Given the description of an element on the screen output the (x, y) to click on. 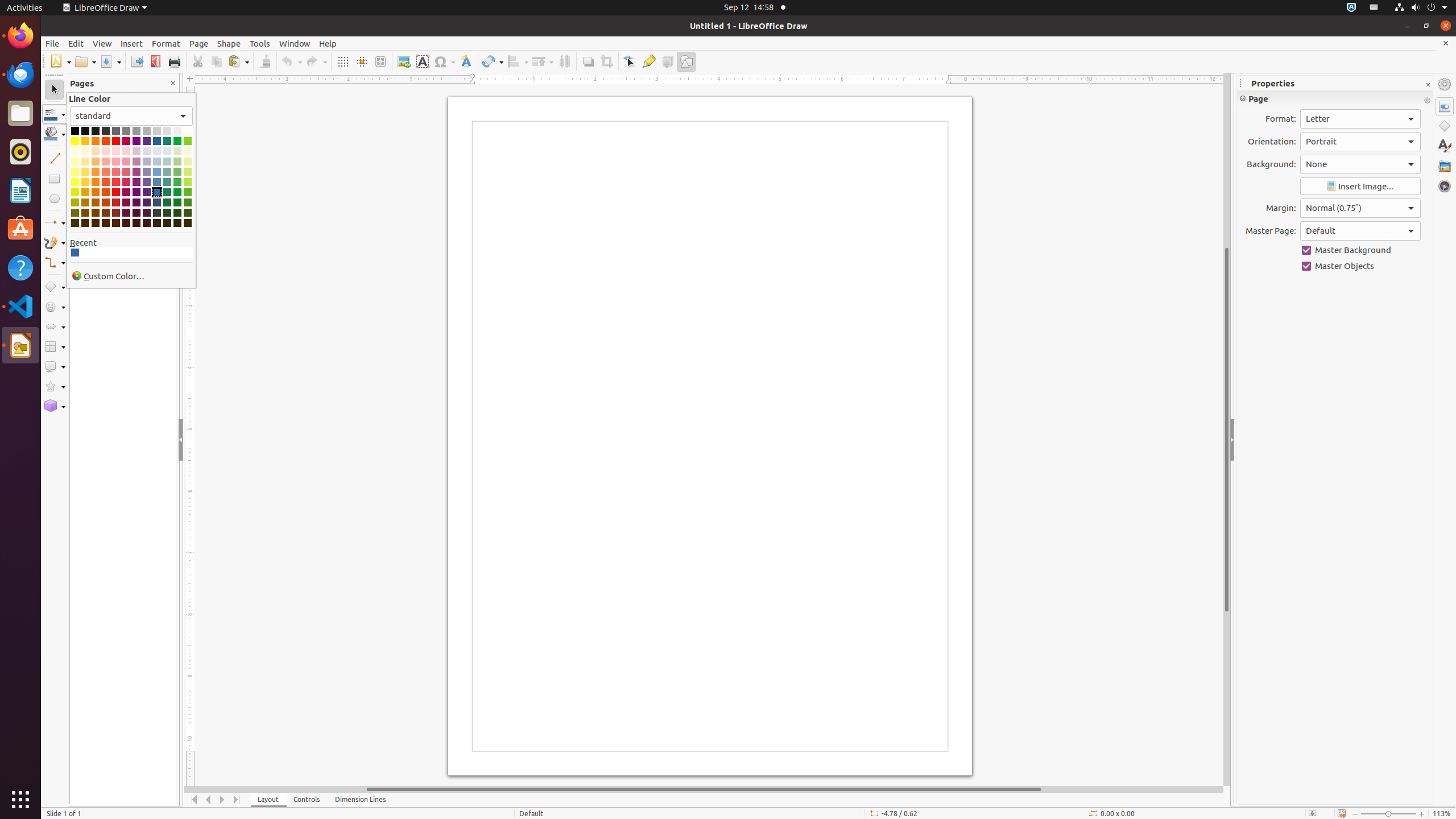
Select Element type: push-button (53, 89)
Vertical scroll bar Element type: scroll-bar (1226, 429)
Light Gray 5 Element type: list-item (177, 130)
Light Teal 2 Element type: list-item (167, 171)
Magenta Element type: list-item (126, 140)
